Given the description of an element on the screen output the (x, y) to click on. 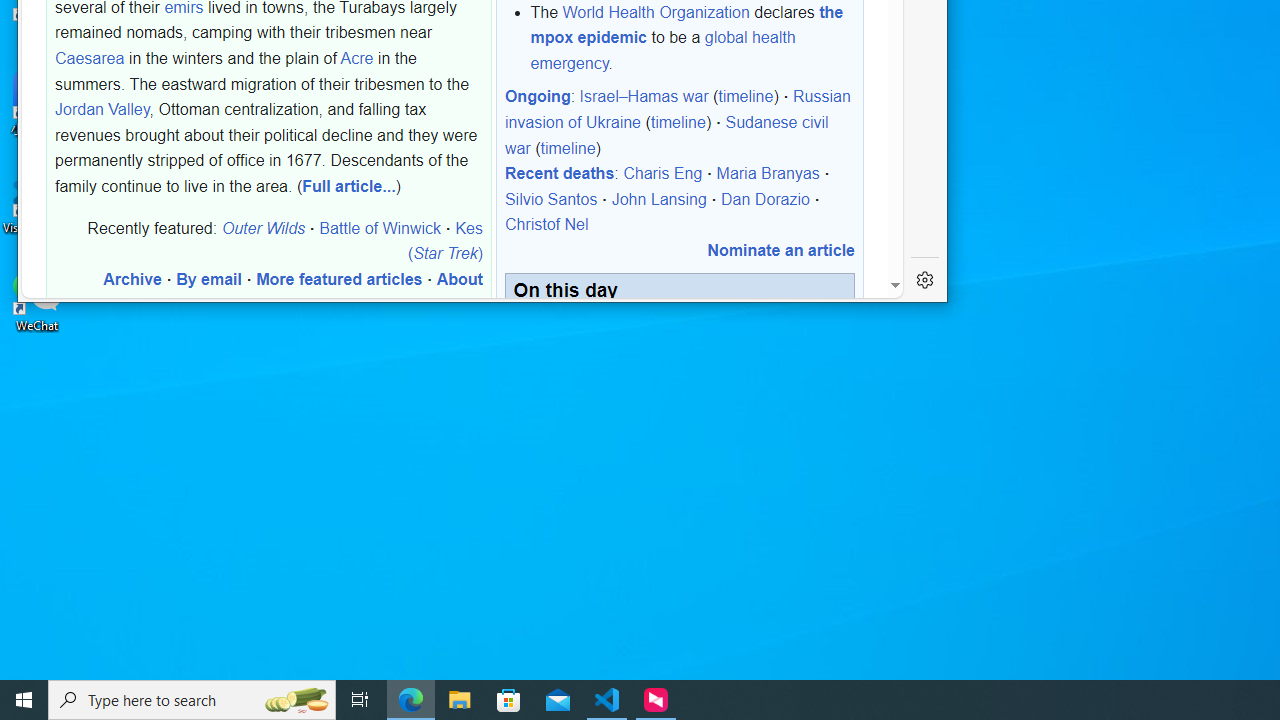
Microsoft Store (509, 699)
Visual Studio Code - 1 running window (607, 699)
Search highlights icon opens search home window (295, 699)
Task View (359, 699)
Start (24, 699)
Microsoft Edge - 1 running window (411, 699)
File Explorer (460, 699)
Type here to search (191, 699)
